Given the description of an element on the screen output the (x, y) to click on. 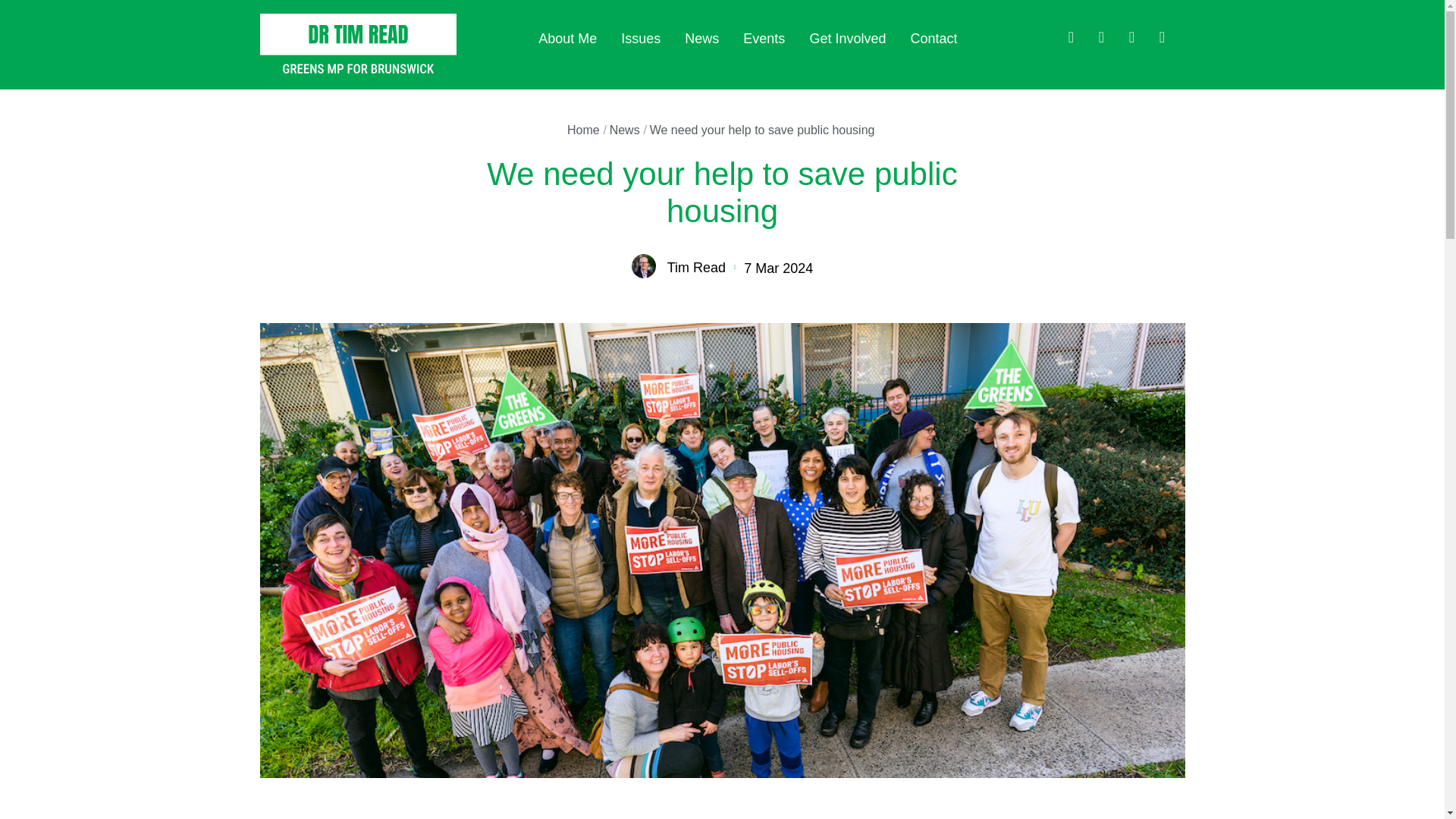
News (701, 38)
We need your help to save public housing (762, 130)
About Me (567, 38)
Contact (933, 38)
Get Involved (847, 38)
Home (583, 130)
Issues (641, 38)
News (625, 130)
Events (763, 38)
